Given the description of an element on the screen output the (x, y) to click on. 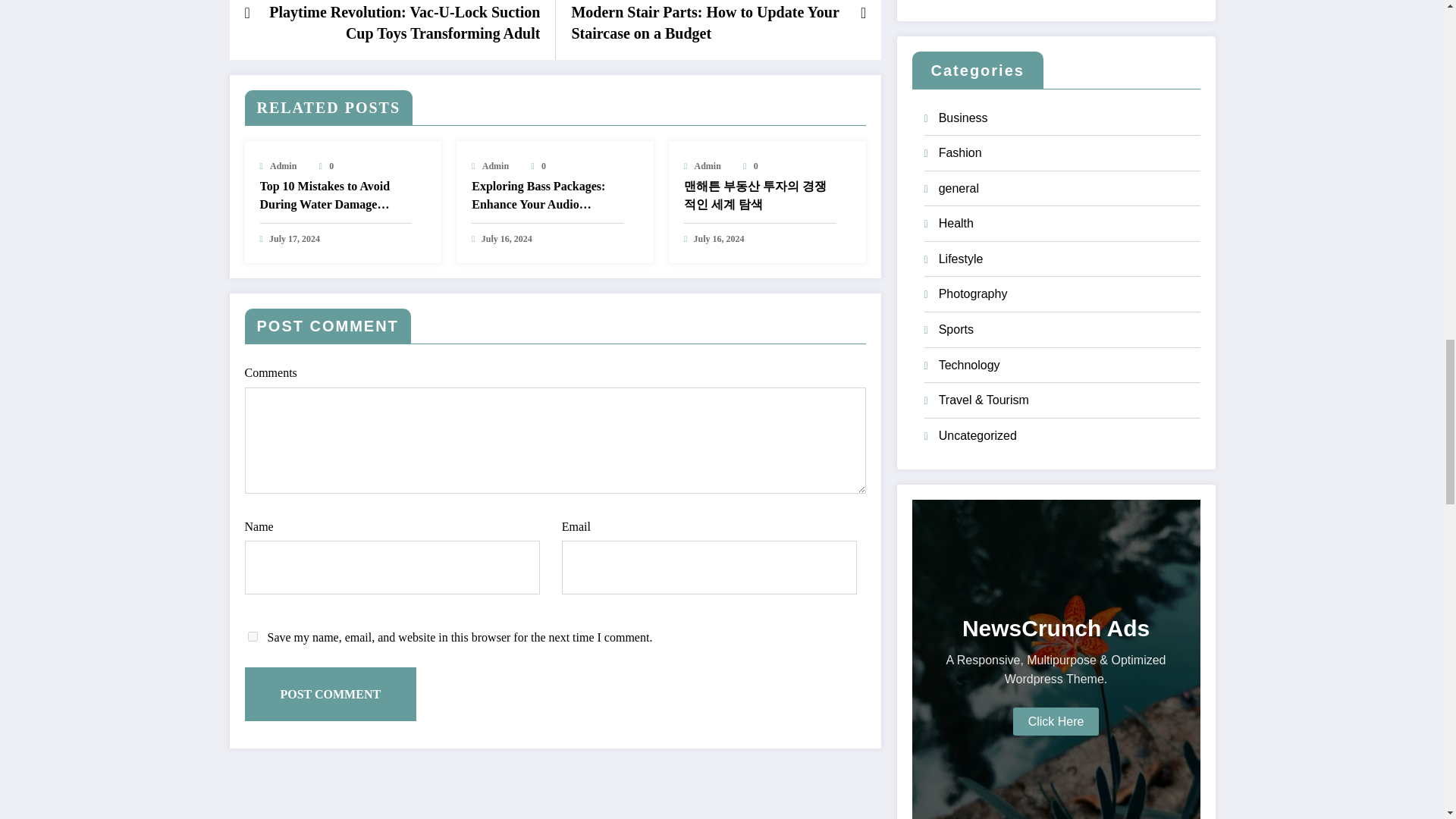
Post Comment (330, 693)
yes (252, 636)
